Given the description of an element on the screen output the (x, y) to click on. 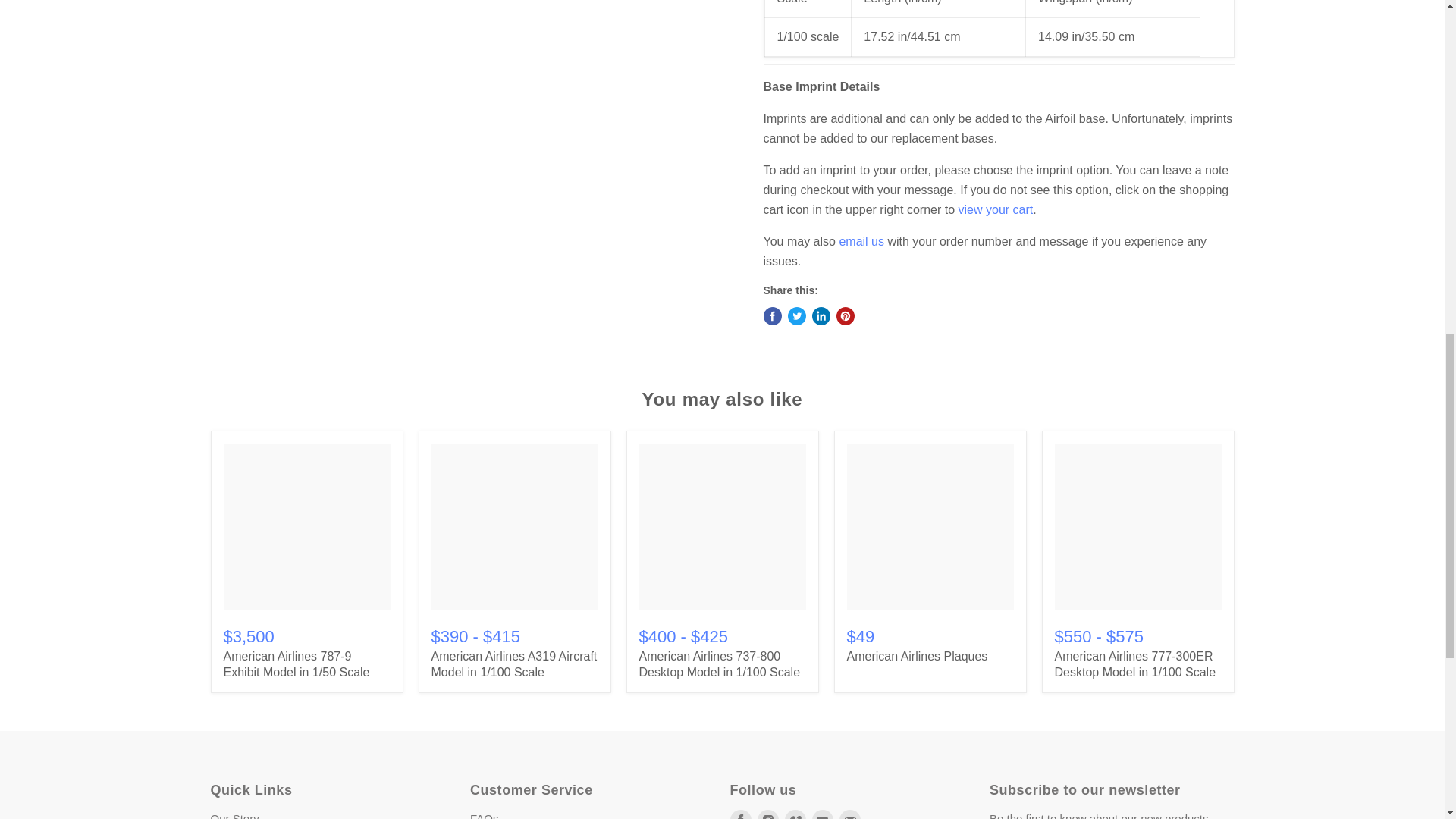
Facebook (740, 814)
Instagram (767, 814)
Vimeo (794, 814)
Youtube (821, 814)
Email (849, 814)
